Given the description of an element on the screen output the (x, y) to click on. 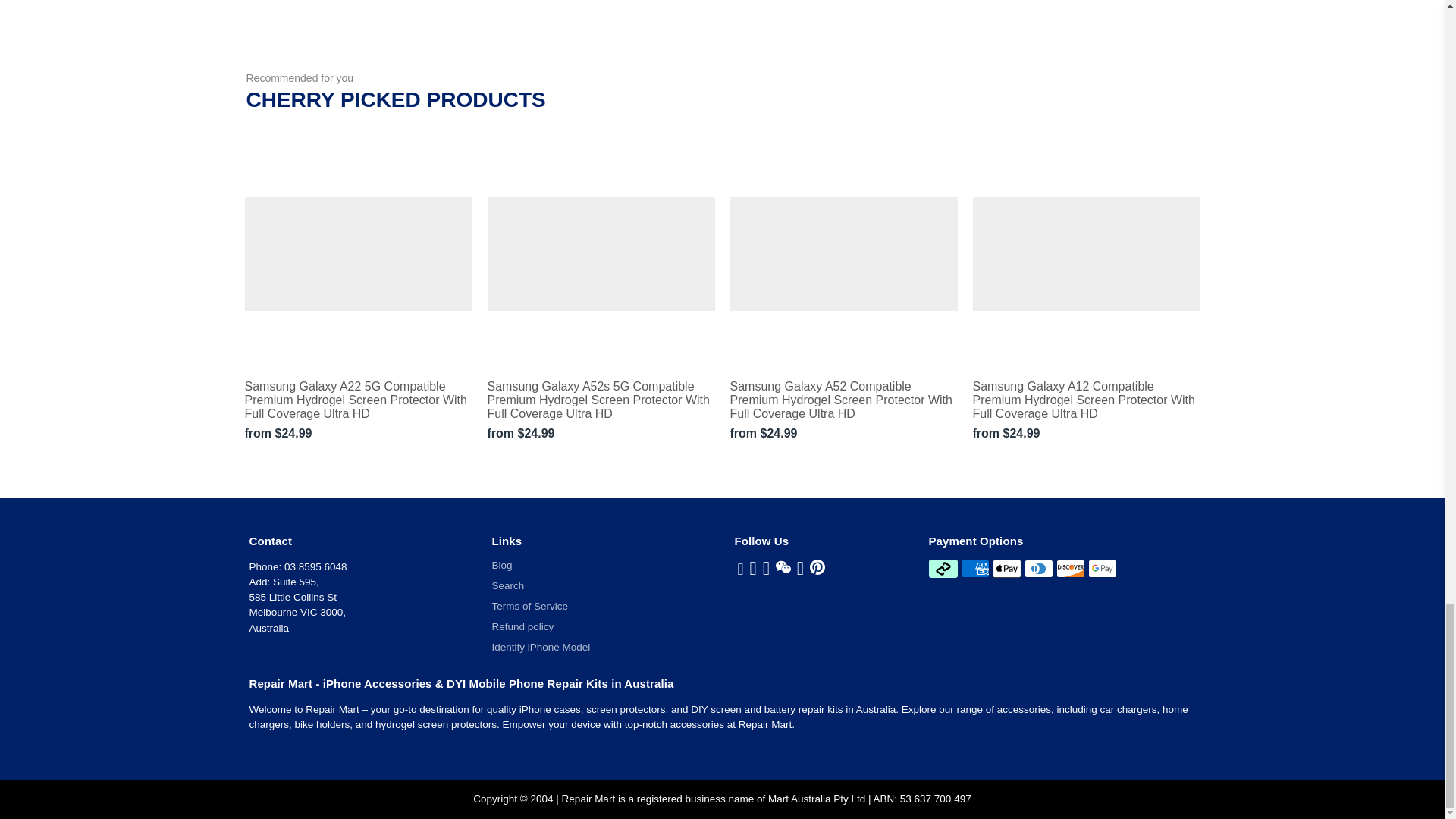
Diners Club (1038, 568)
Discover (1070, 568)
WeChat icon (783, 566)
Apple Pay (1007, 568)
Afterpay (942, 568)
Google Pay (1101, 568)
American Express (975, 568)
